Given the description of an element on the screen output the (x, y) to click on. 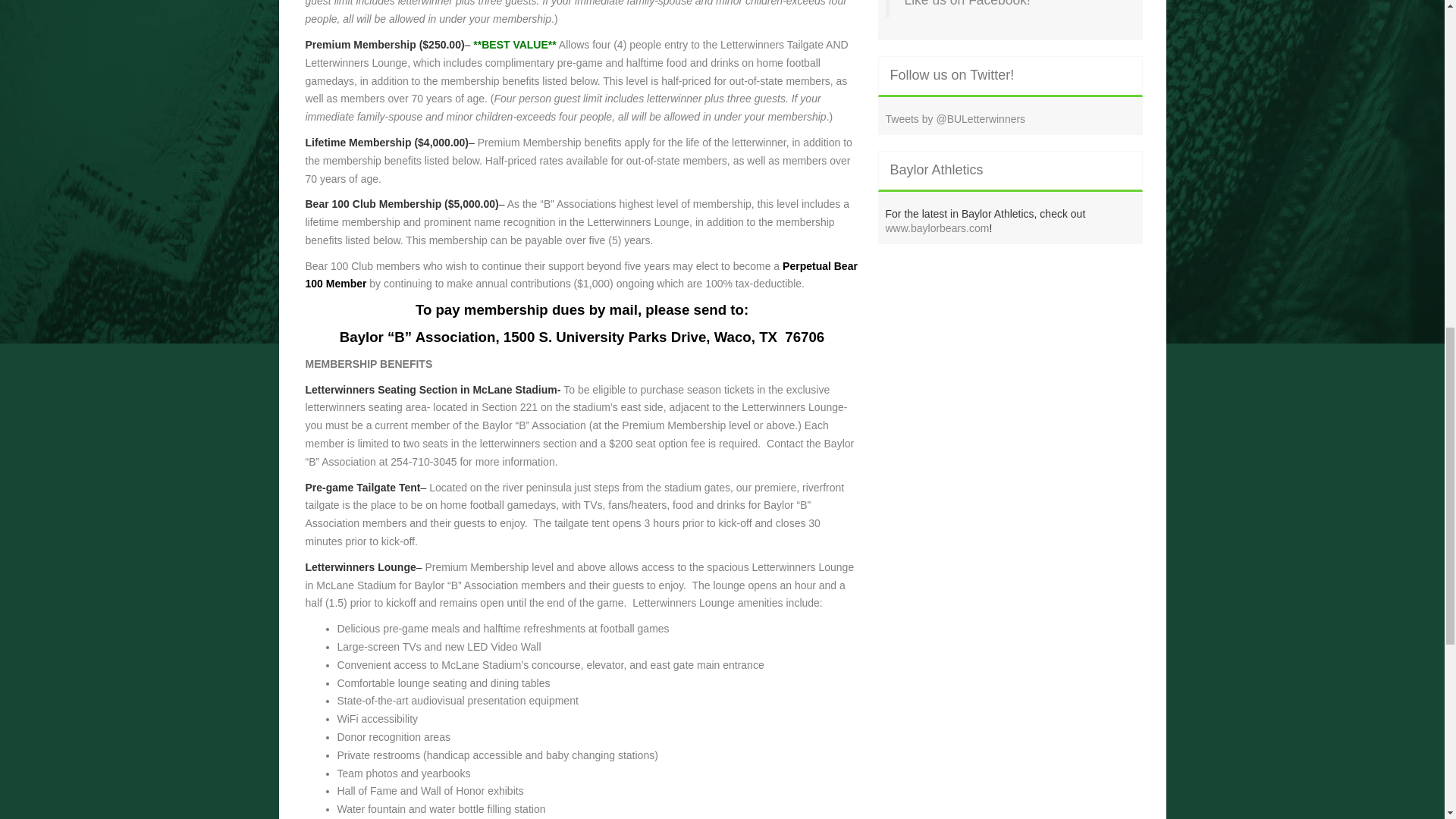
Like us on Facebook! (966, 3)
www.baylorbears.com (937, 227)
